Given the description of an element on the screen output the (x, y) to click on. 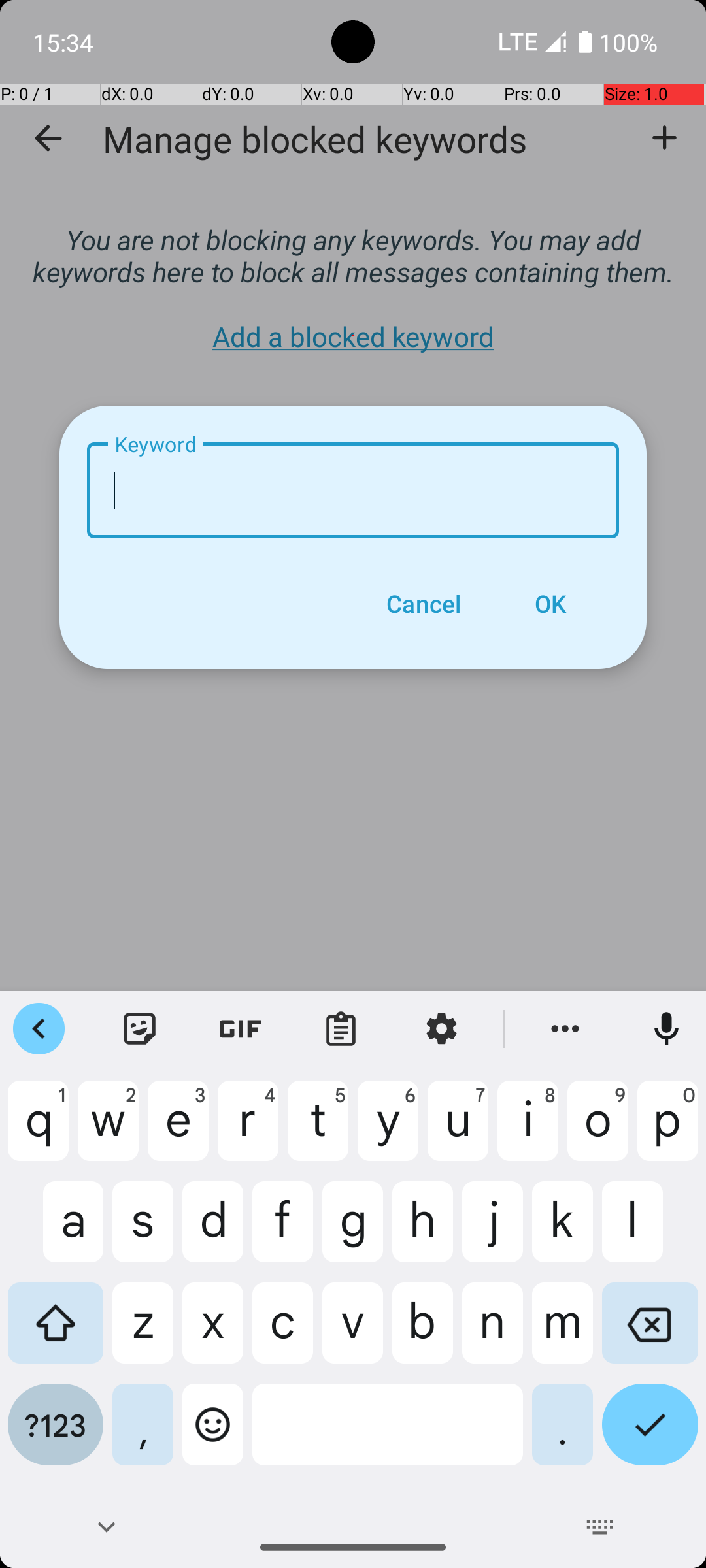
Keyword Element type: android.widget.EditText (352, 490)
